Given the description of an element on the screen output the (x, y) to click on. 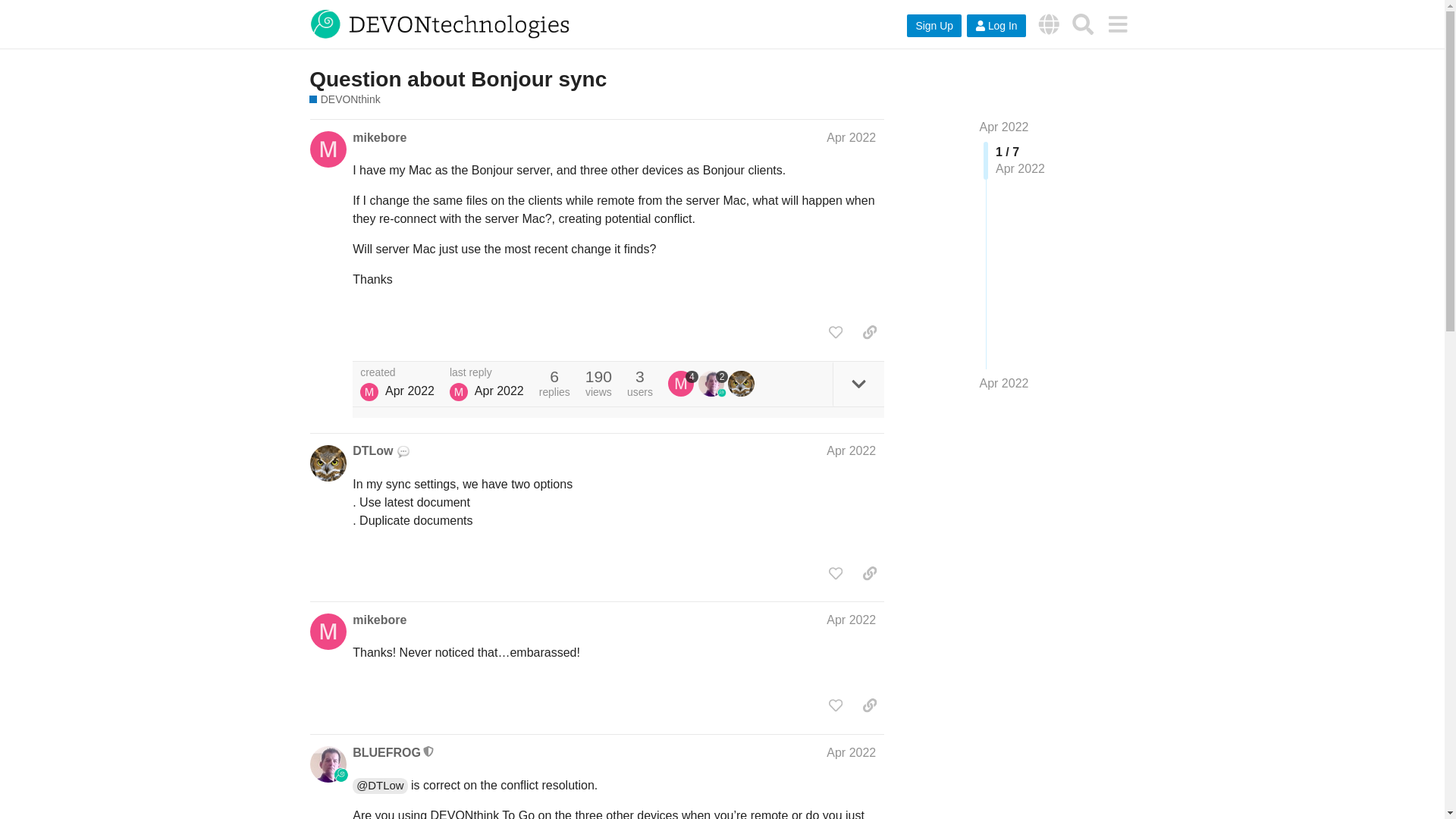
Log In (996, 25)
Search (1082, 23)
menu (1117, 23)
last reply (486, 372)
Sign Up (933, 25)
Apr 20, 2022 12:20 pm (499, 390)
Apr 2022 (851, 752)
mikebore (379, 137)
DTLow (372, 451)
Apr 2022 (1004, 126)
DEVONthink (344, 99)
DEVONtechnologies (1048, 23)
BLUEFROG (386, 752)
2 (713, 383)
